Given the description of an element on the screen output the (x, y) to click on. 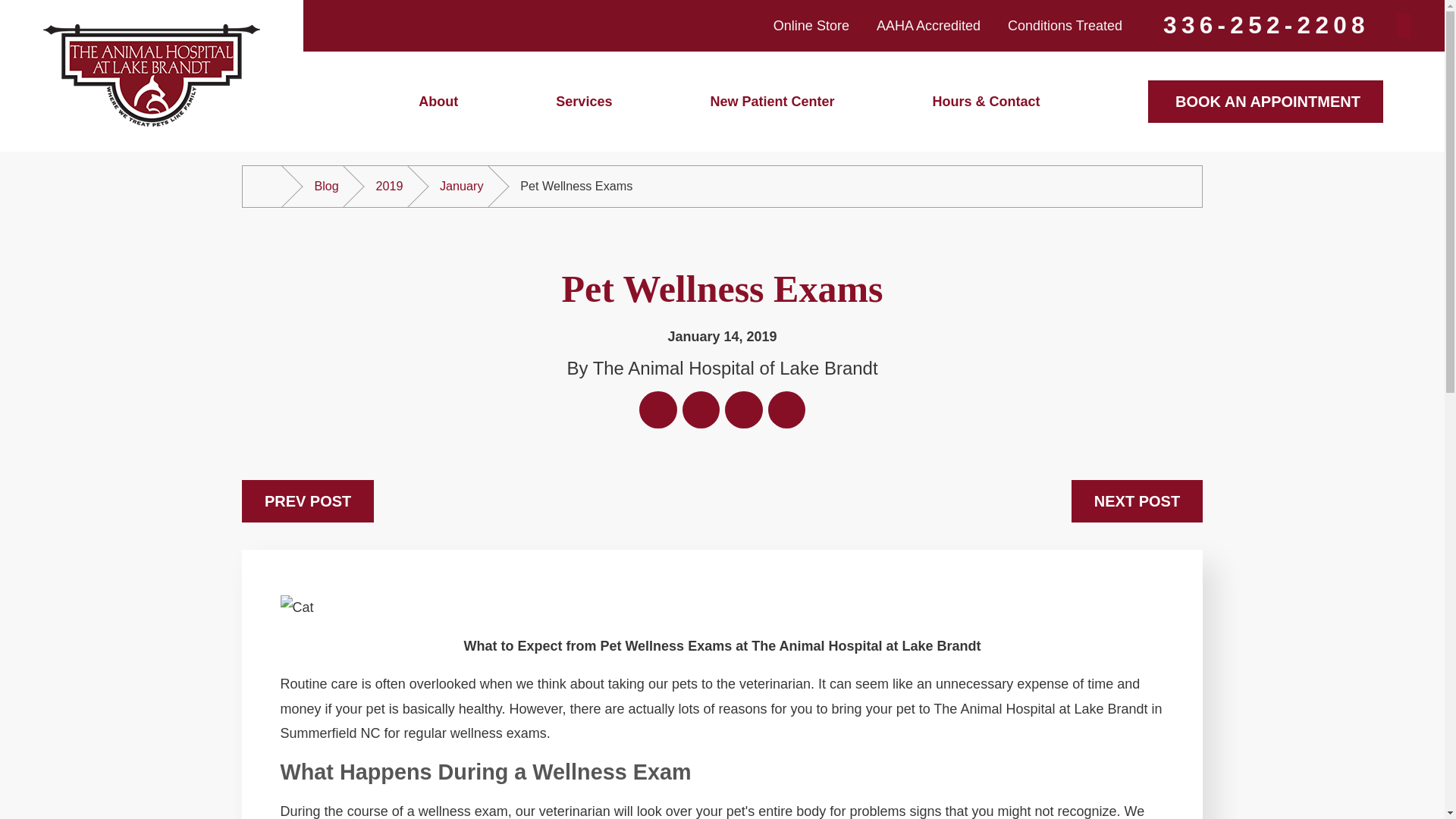
Conditions Treated (1064, 25)
Services (583, 100)
 BOOK AN APPOINTMENT (1264, 101)
About (437, 100)
Search Icon (1403, 23)
Online Store (810, 25)
Go Home (269, 186)
AAHA Accredited (927, 25)
The Animal Hospital at Lake Brandt (151, 75)
New Patient Center (772, 100)
336-252-2208 (1266, 23)
